Given the description of an element on the screen output the (x, y) to click on. 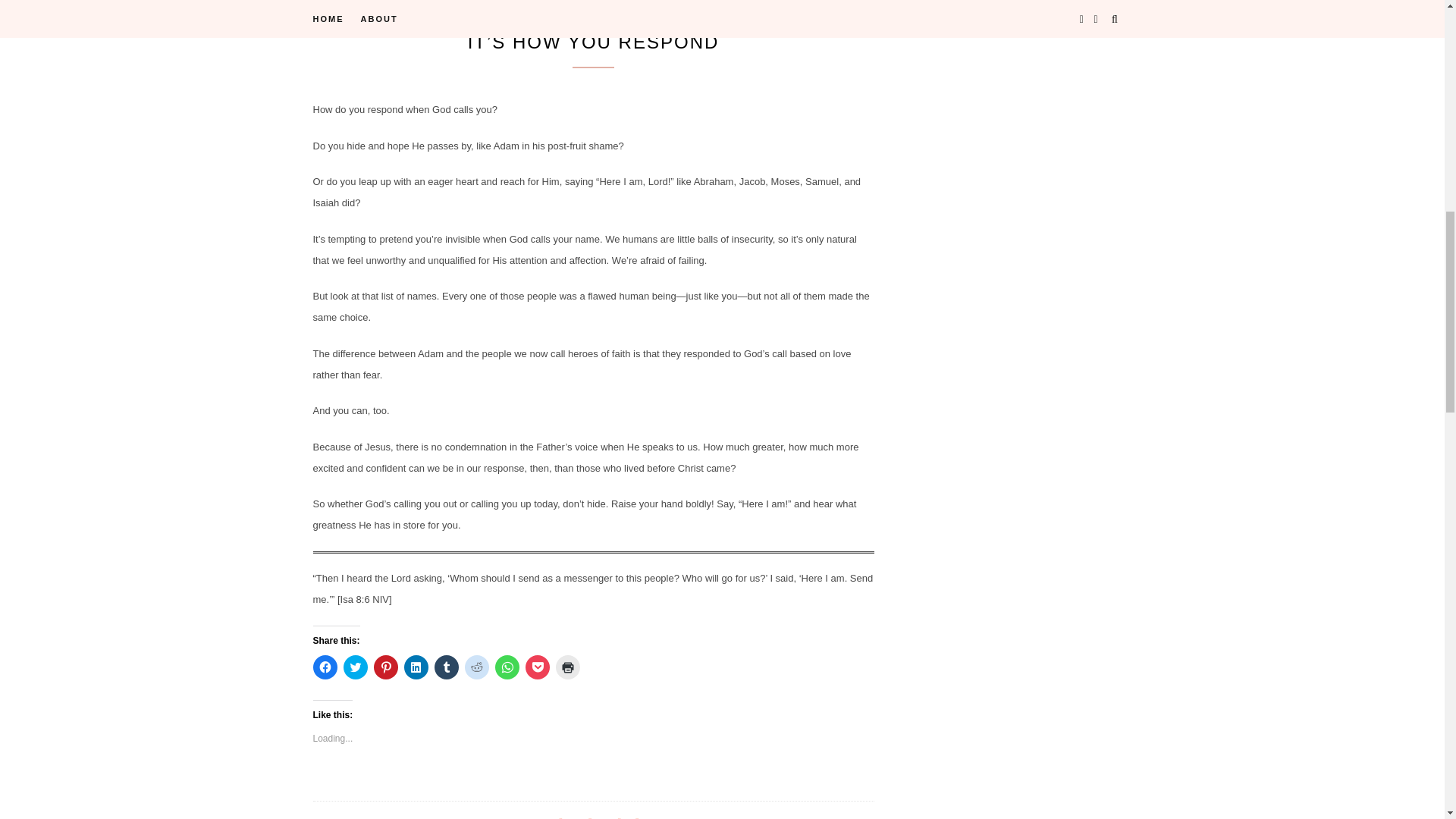
January 6, 2020 (641, 5)
Click to share on Reddit (475, 667)
Click to share on Facebook (324, 667)
Click to share on Tumblr (445, 667)
WHO ARE YOU (559, 7)
Click to share on Pinterest (384, 667)
Click to share on Twitter (354, 667)
Click to share on LinkedIn (415, 667)
Click to share on Pocket (536, 667)
Click to share on WhatsApp (506, 667)
